Given the description of an element on the screen output the (x, y) to click on. 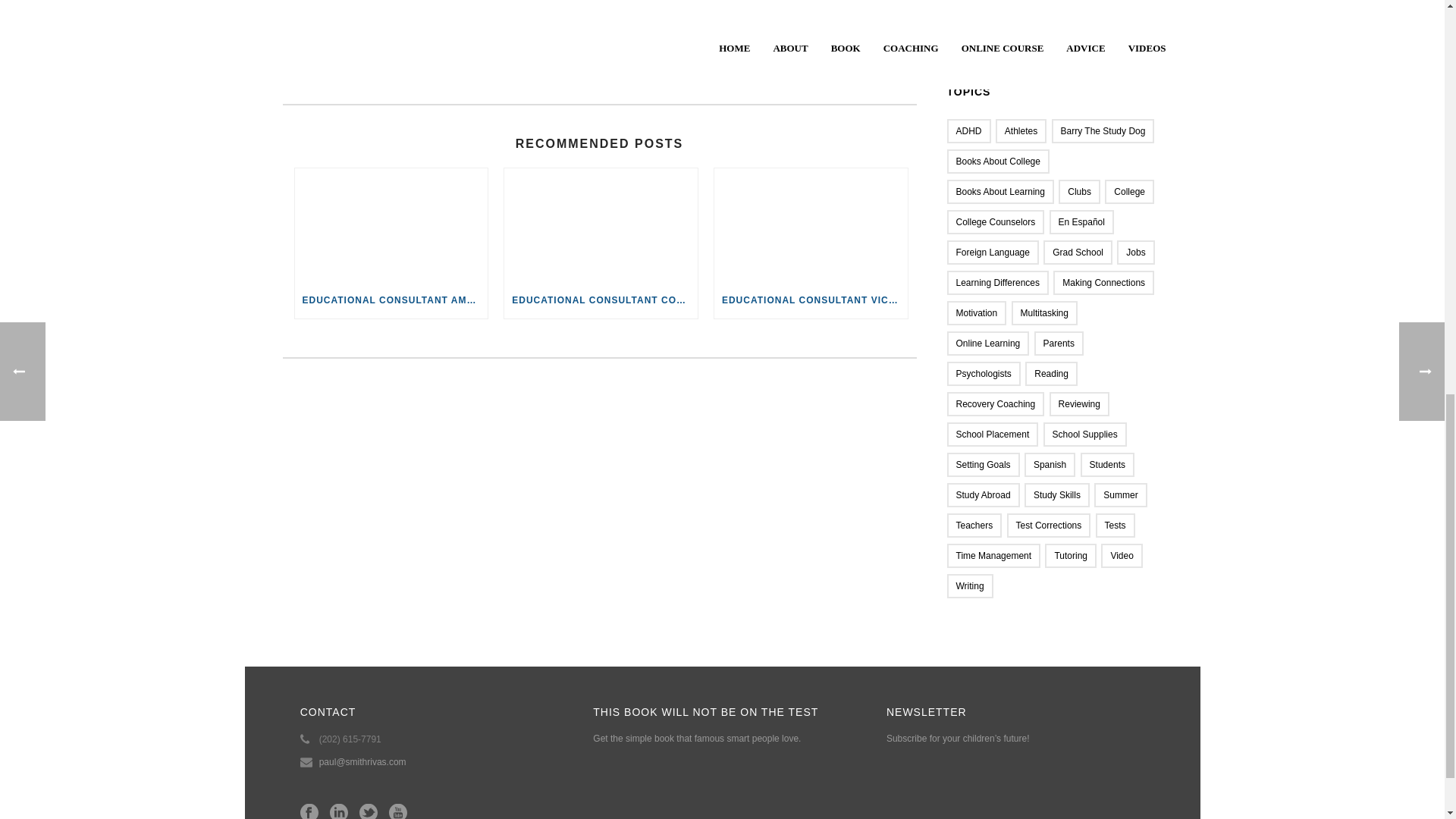
Follow me on Twitter (352, 64)
Get in touch with me via email (372, 64)
EDUCATIONAL CONSULTANT COLLEEN GANJIAN (600, 299)
EDUCATIONAL CONSULTANT AMY BRYANT (390, 299)
Get smarter by following us on twitter (368, 811)
Paul Rivas (598, 39)
Get smarter by following us on linkedin (338, 811)
Get smarter by following us on facebook (308, 811)
Educational Consultant Amy Bryant (390, 224)
Get smarter by following us on youtube (397, 811)
EDUCATIONAL CONSULTANT VICTORIA TILLSON EVANS (810, 299)
Educational Consultant Colleen Ganjian (600, 224)
Educational Consultant Victoria Tillson Evans (810, 224)
